Given the description of an element on the screen output the (x, y) to click on. 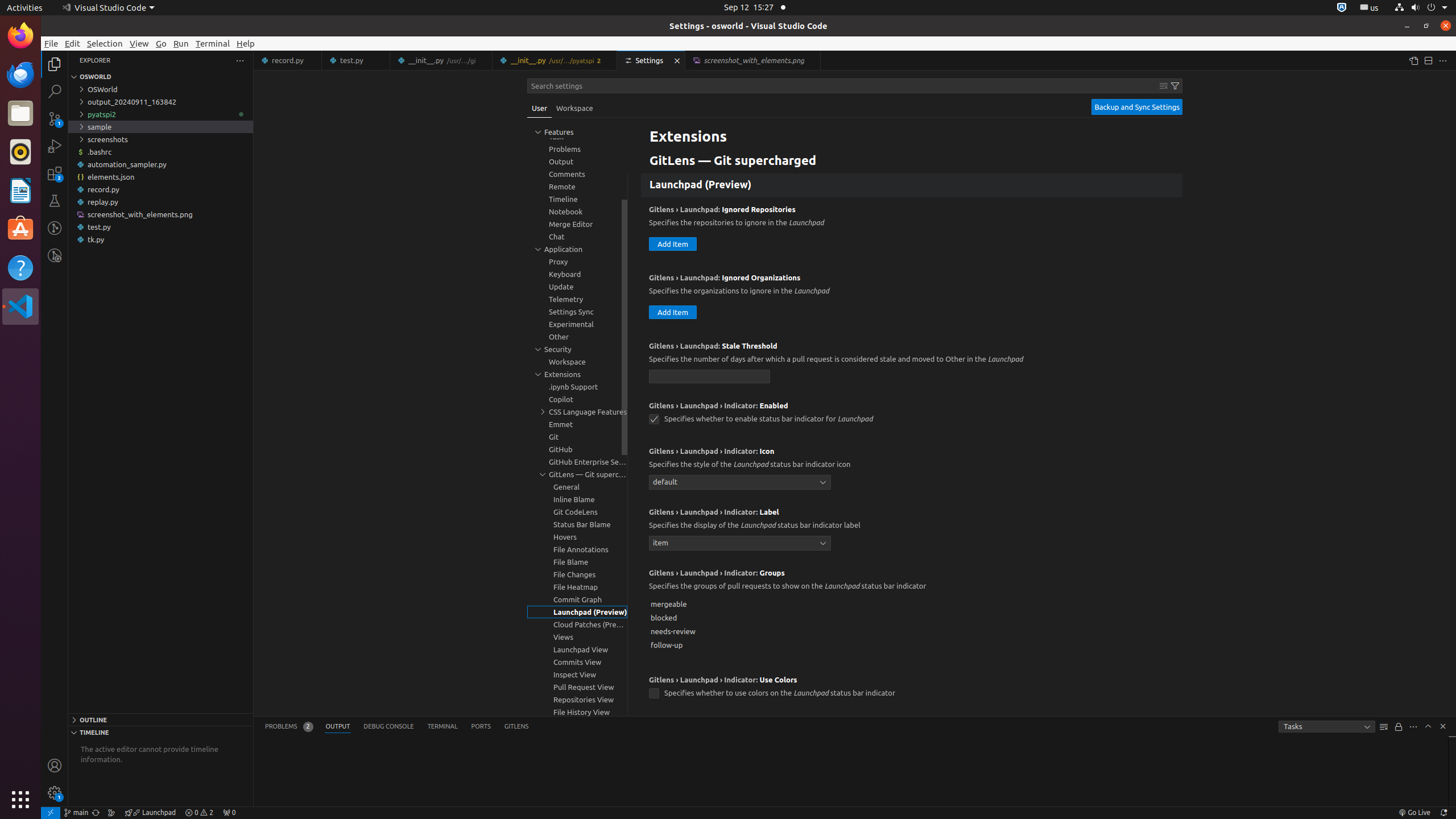
tk.py Element type: tree-item (160, 239)
Clear Settings Search Input Element type: push-button (1163, 85)
Accounts Element type: push-button (54, 765)
Split Editor Right (Ctrl+\) [Alt] Split Editor Down Element type: push-button (1427, 60)
